Given the description of an element on the screen output the (x, y) to click on. 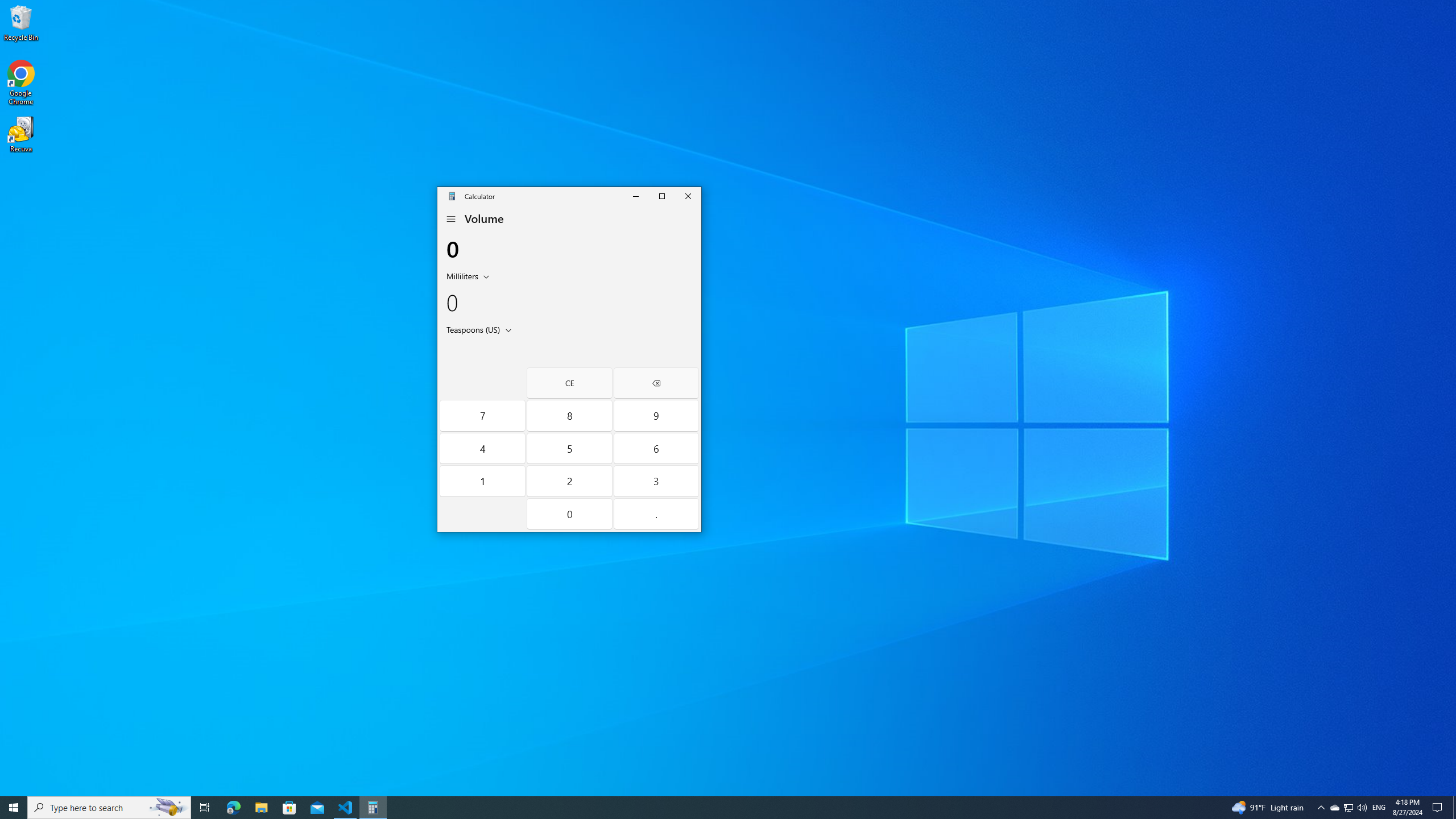
Backspace (655, 382)
Nine (655, 415)
Five (569, 448)
Close Calculator (688, 195)
Running applications (706, 807)
Open Navigation (451, 218)
Calculator - 1 running window (373, 807)
Minimize Calculator (636, 195)
Four (482, 448)
